Given the description of an element on the screen output the (x, y) to click on. 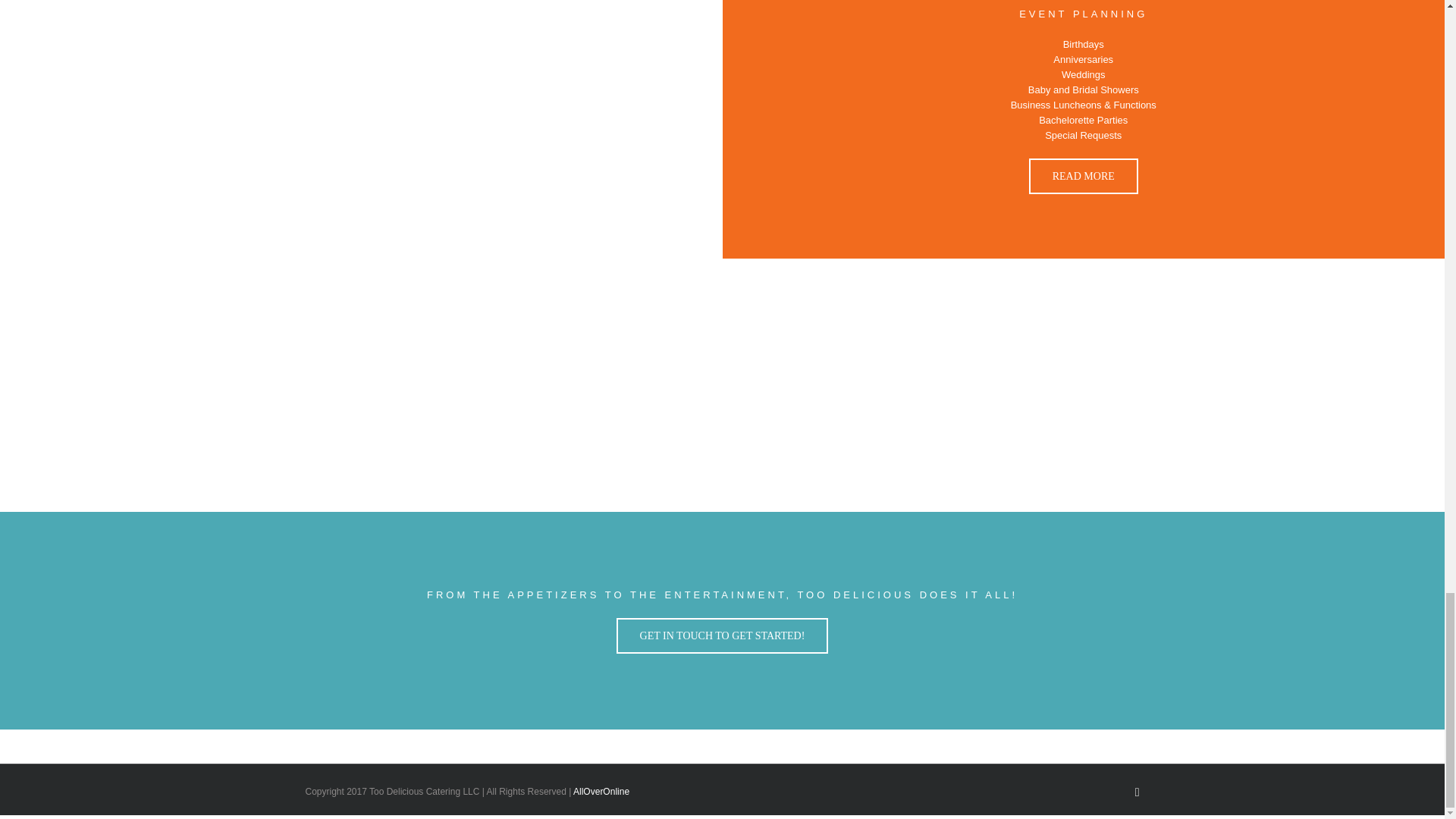
GET IN TOUCH TO GET STARTED! (721, 635)
READ MORE (1083, 176)
AllOverOnline (600, 791)
